Given the description of an element on the screen output the (x, y) to click on. 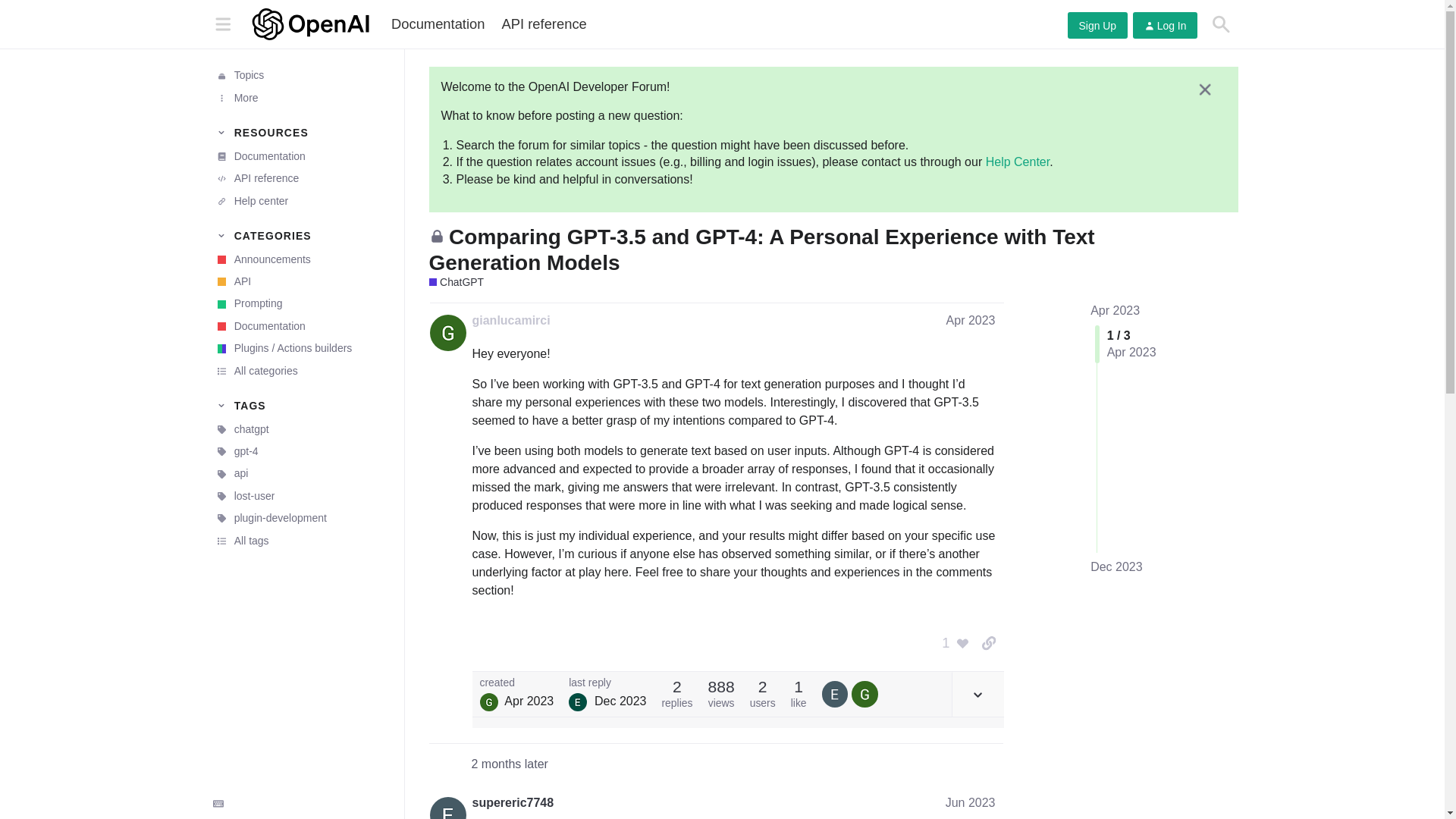
API reference (301, 178)
plugin-development (301, 517)
API reference (543, 23)
Toggle section (301, 405)
Topics (301, 75)
All categories (301, 371)
Documentation (437, 23)
Prompting (301, 304)
lost-user (301, 495)
Log In (1164, 25)
gianlucamirci (510, 320)
CATEGORIES (301, 235)
Search (1220, 23)
Toggle section (301, 235)
